Given the description of an element on the screen output the (x, y) to click on. 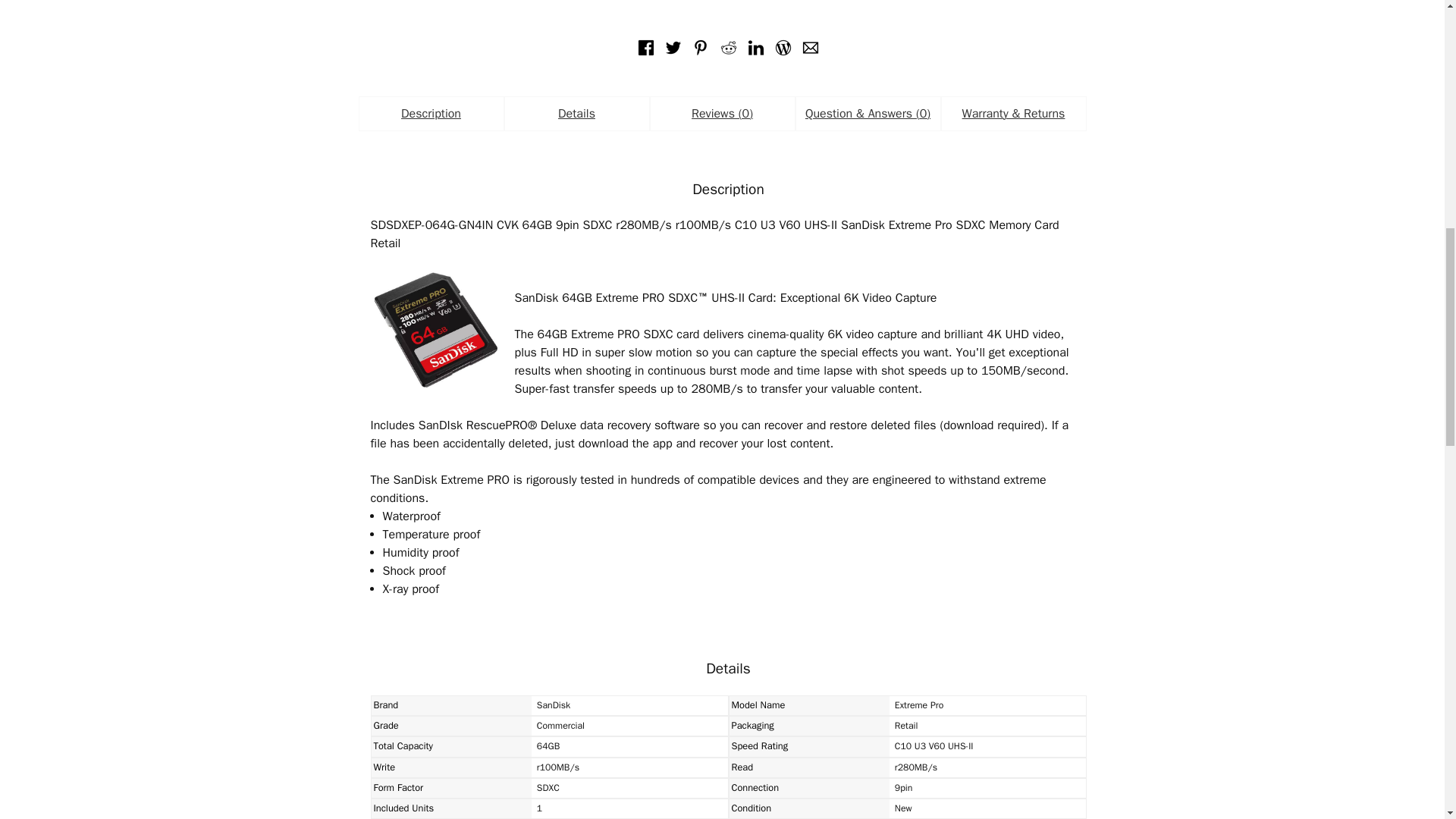
Send email (809, 47)
Submit to Reddit (727, 47)
Share on Facebook (645, 47)
Share on LinkedIn (756, 47)
Tweet (673, 47)
Pin it (700, 47)
Publish on WordPress (782, 47)
